Given the description of an element on the screen output the (x, y) to click on. 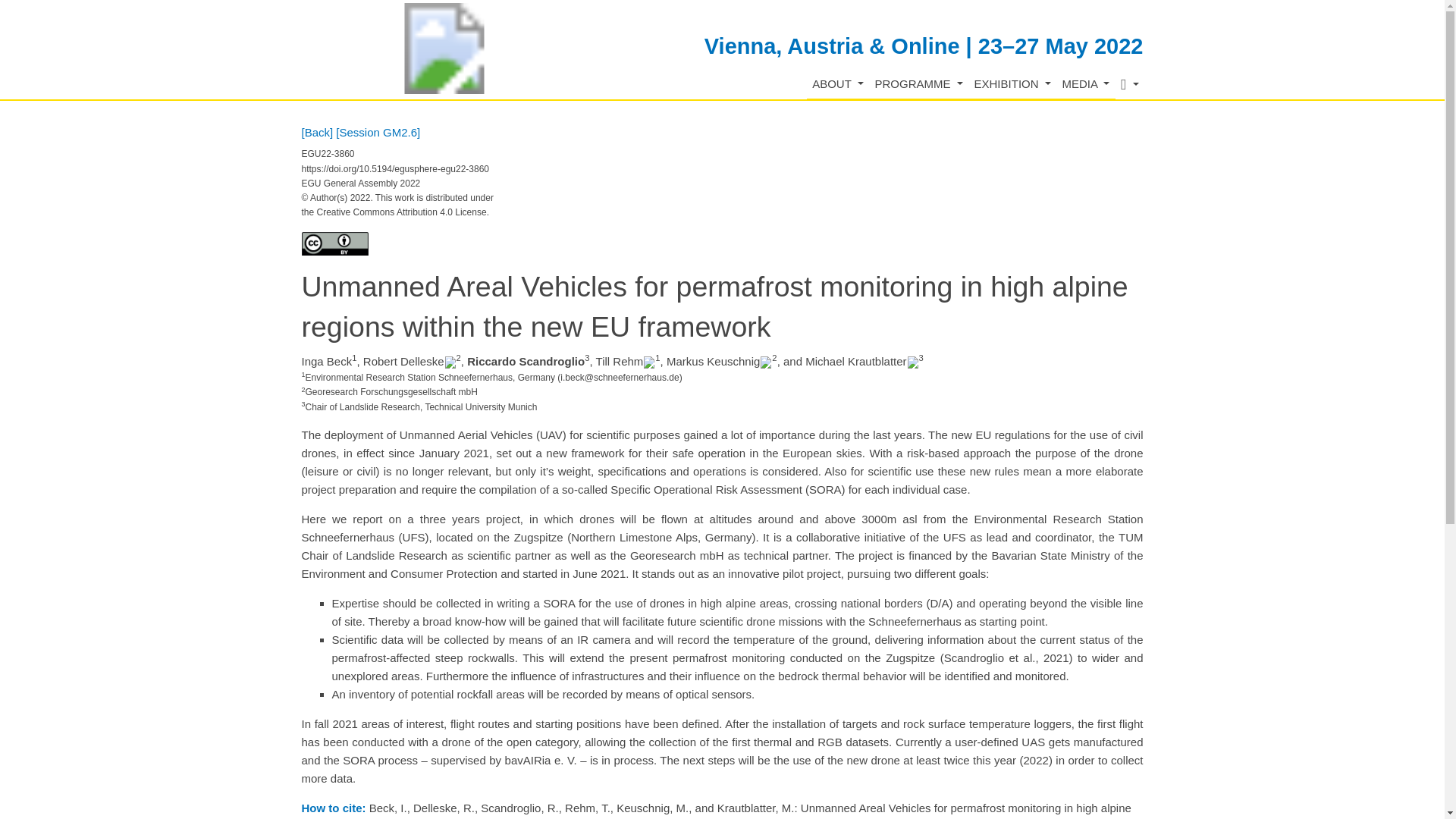
PROGRAMME (918, 83)
MEDIA (1086, 83)
EXHIBITION (1012, 83)
ABOUT (837, 83)
